Given the description of an element on the screen output the (x, y) to click on. 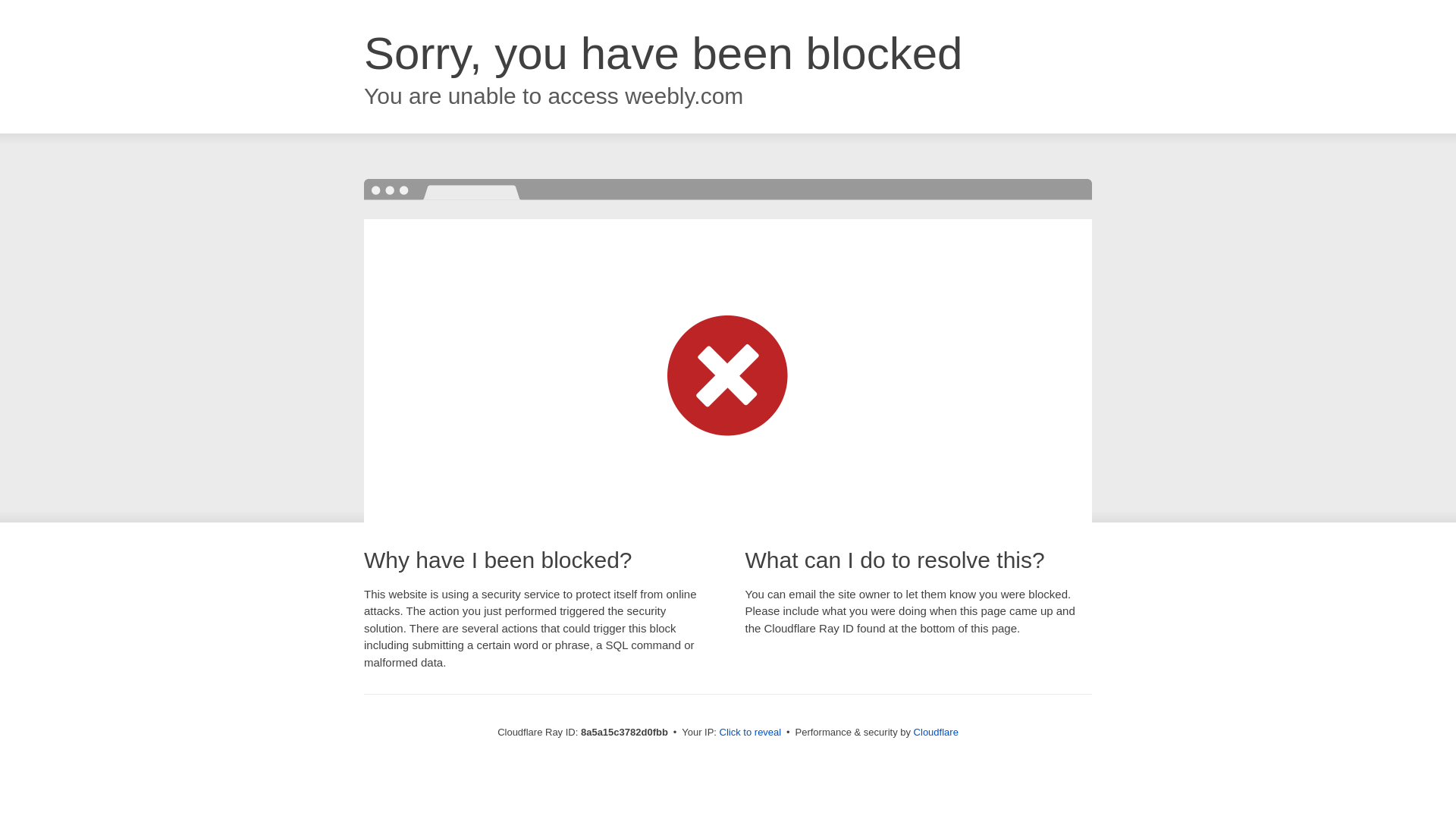
Cloudflare (936, 731)
Click to reveal (750, 732)
